Given the description of an element on the screen output the (x, y) to click on. 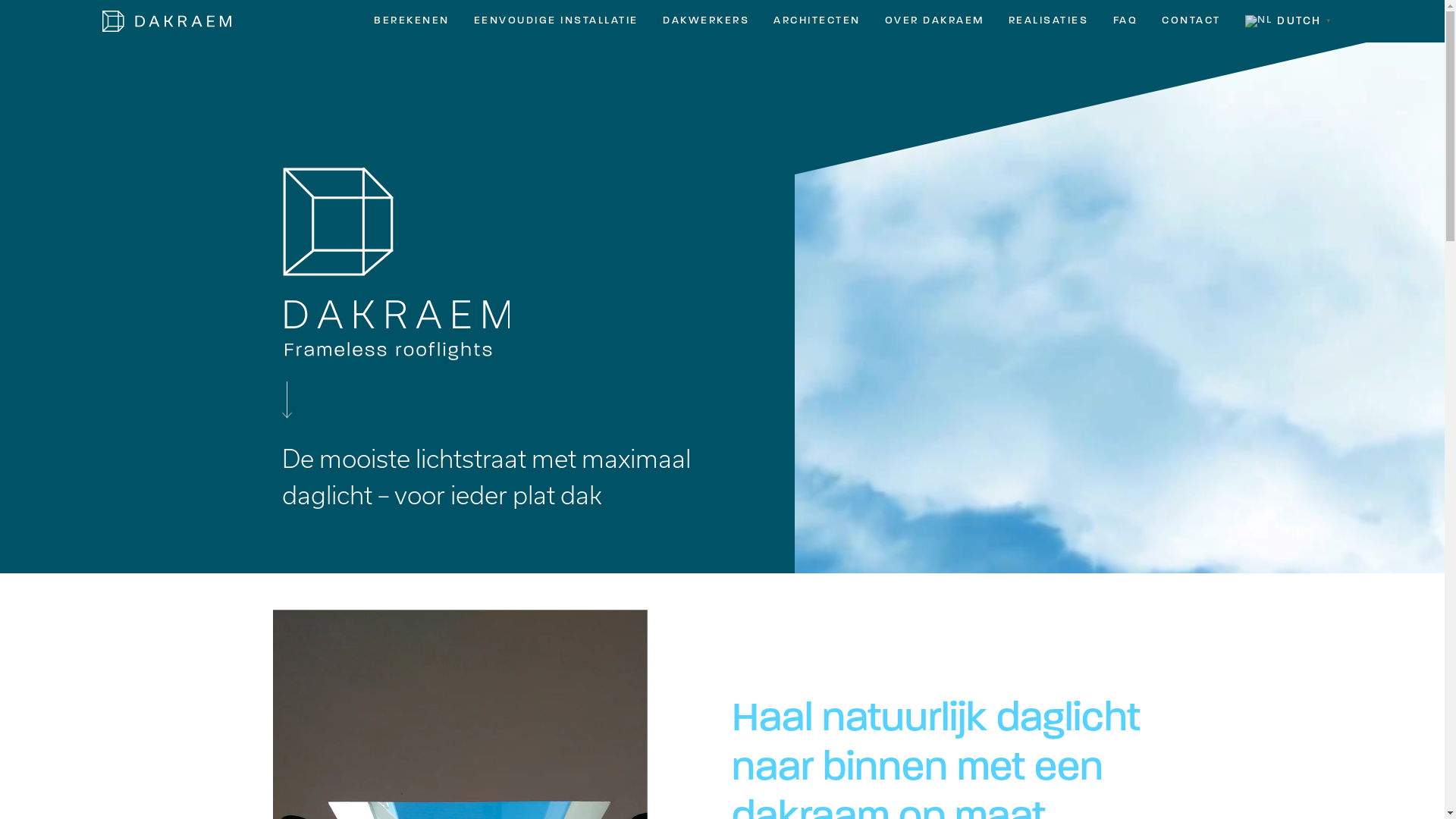
REALISATIES Element type: text (1048, 21)
ARCHITECTEN Element type: text (817, 21)
EENVOUDIGE INSTALLATIE Element type: text (556, 21)
BEREKENEN Element type: text (411, 21)
CONTACT Element type: text (1191, 21)
FAQ Element type: text (1124, 21)
DAKWERKERS Element type: text (706, 21)
OVER DAKRAEM Element type: text (934, 21)
